Given the description of an element on the screen output the (x, y) to click on. 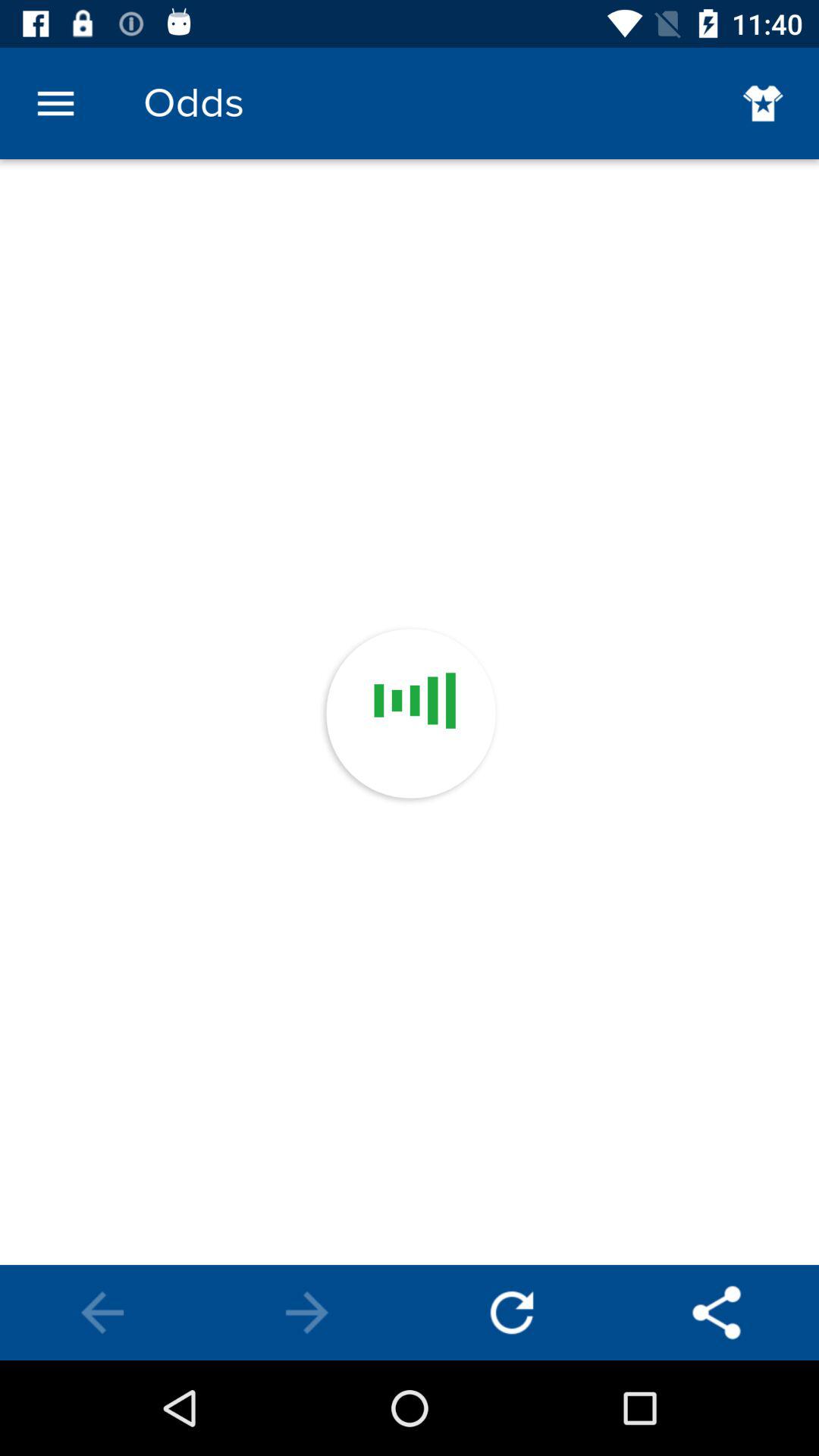
share (716, 1312)
